Given the description of an element on the screen output the (x, y) to click on. 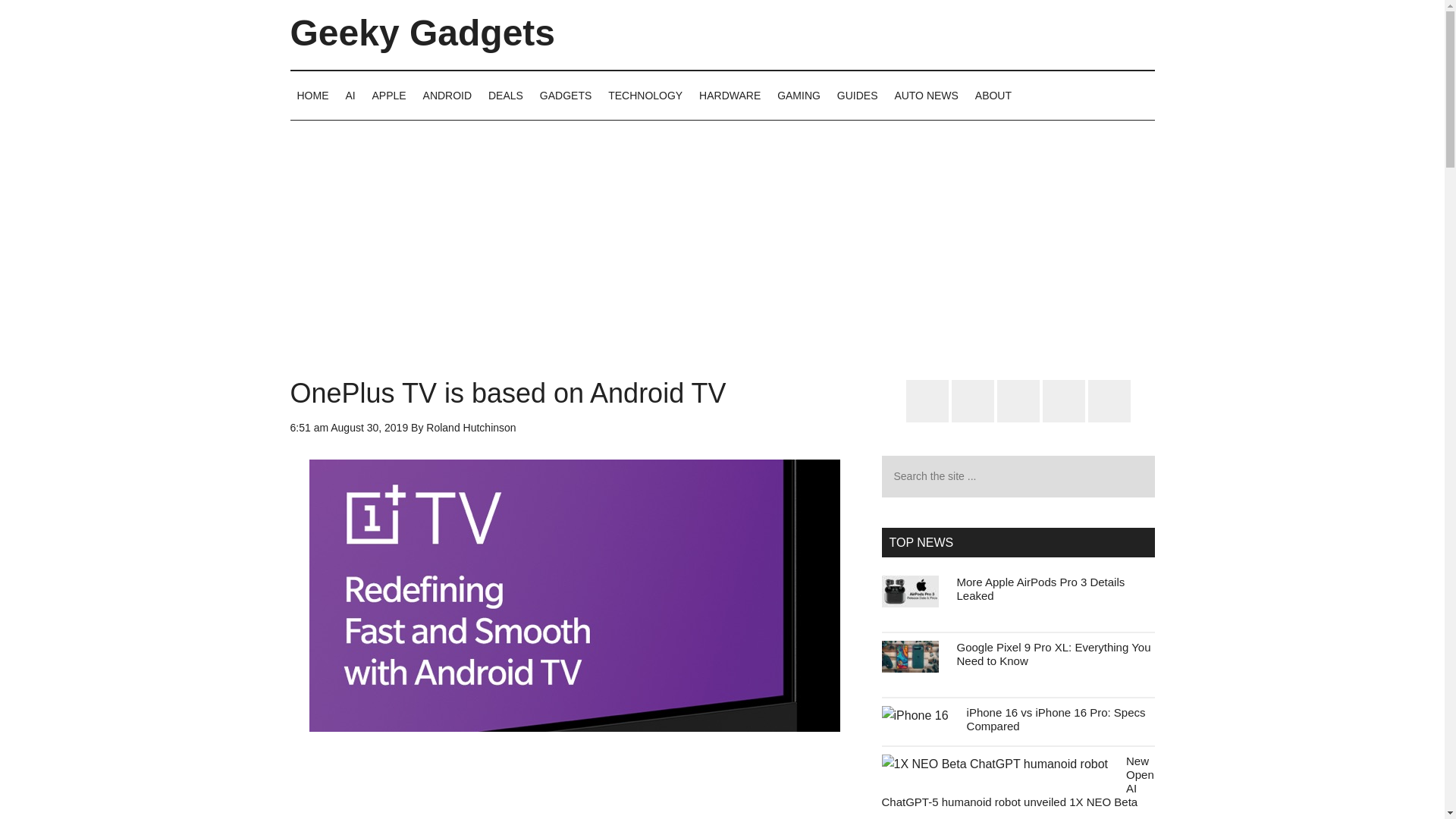
Google Pixel 9 Pro XL: Everything You Need to Know (1053, 653)
GAMING (798, 95)
TECHNOLOGY (644, 95)
iPhone 16 vs iPhone 16 Pro: Specs Compared (1055, 718)
GUIDES (857, 95)
ABOUT (992, 95)
HOME (311, 95)
Roland Hutchinson (470, 427)
AUTO NEWS (925, 95)
